Given the description of an element on the screen output the (x, y) to click on. 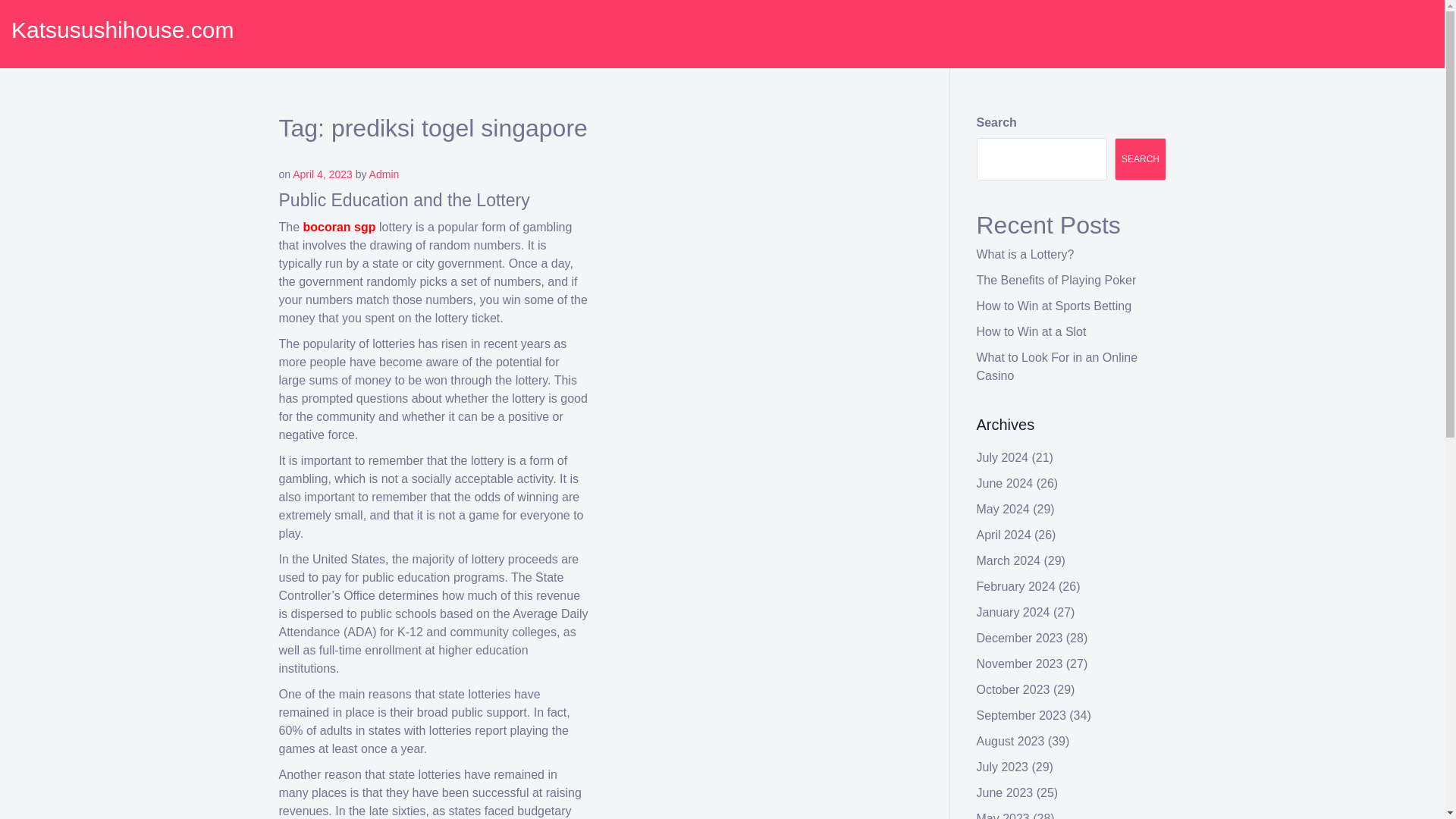
May 2023 (1002, 815)
SEARCH (1140, 159)
April 4, 2023 (322, 174)
May 2024 (1002, 508)
How to Win at a Slot (1031, 331)
April 2024 (1003, 534)
December 2023 (1019, 637)
June 2023 (1004, 792)
September 2023 (1020, 715)
August 2023 (1010, 740)
